Given the description of an element on the screen output the (x, y) to click on. 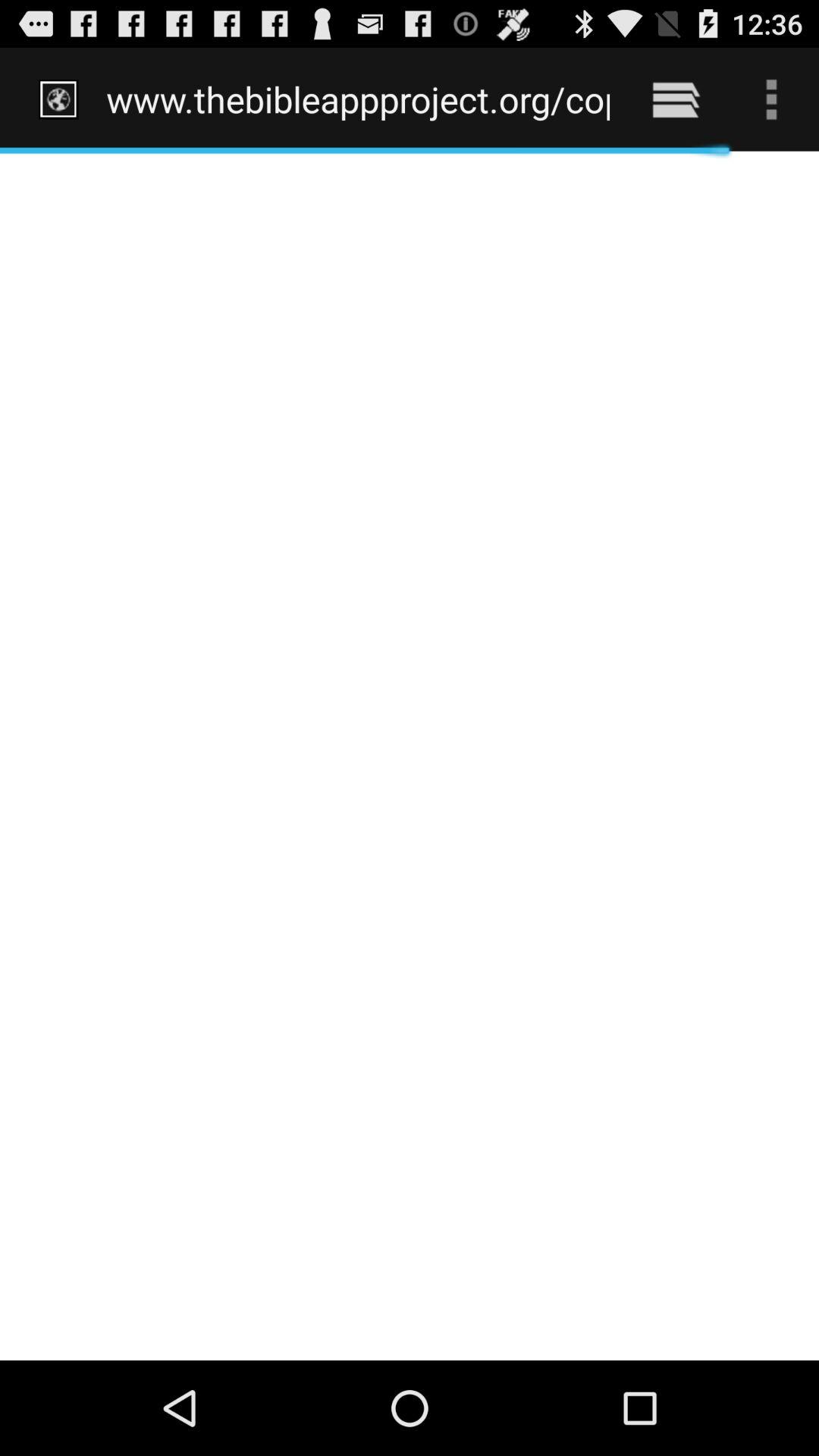
launch icon below the www thebibleappproject org icon (409, 755)
